Given the description of an element on the screen output the (x, y) to click on. 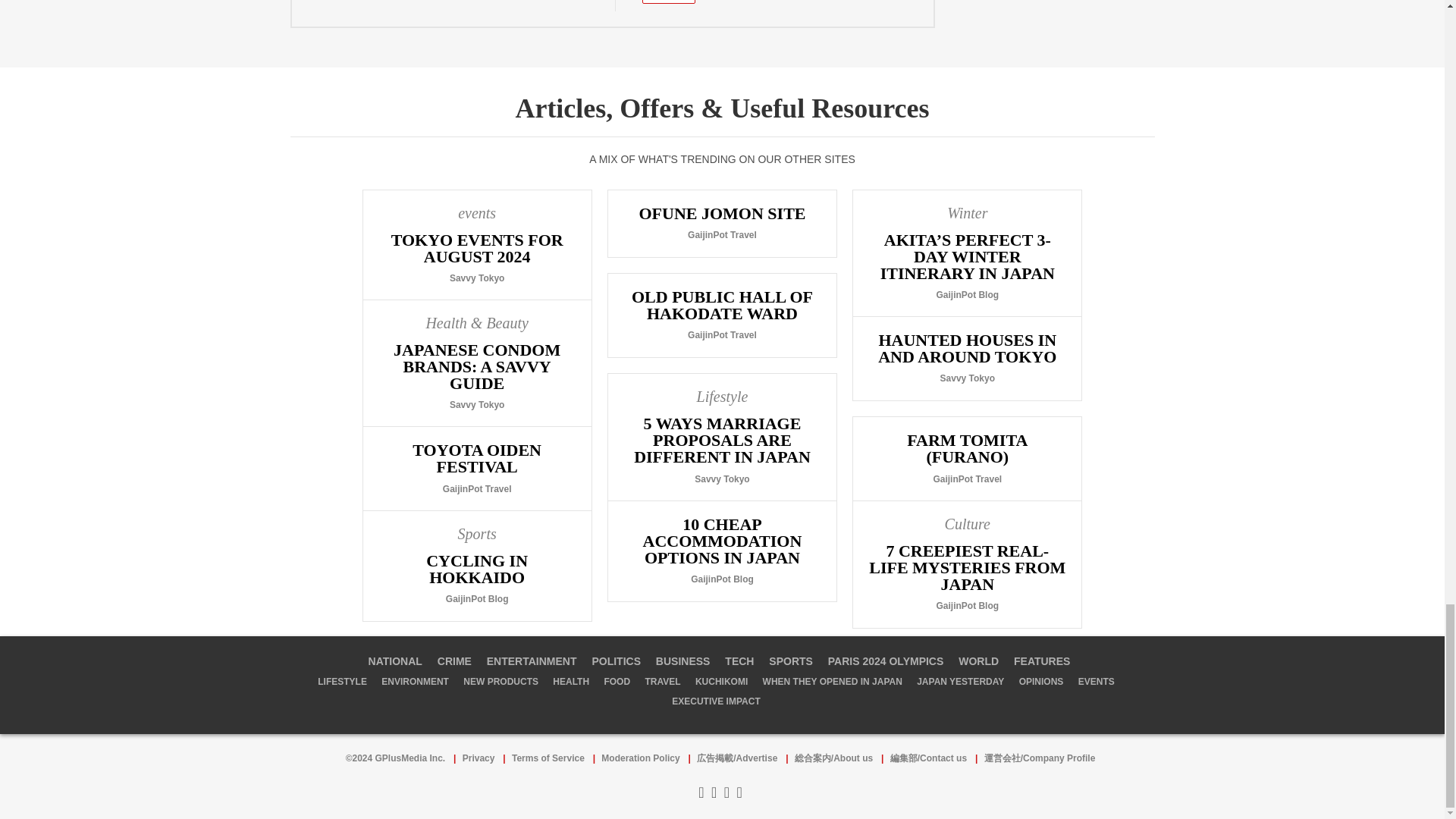
Tokyo Events For August 2024 (476, 245)
Log In (668, 2)
Ofune Jomon Site (721, 223)
